Given the description of an element on the screen output the (x, y) to click on. 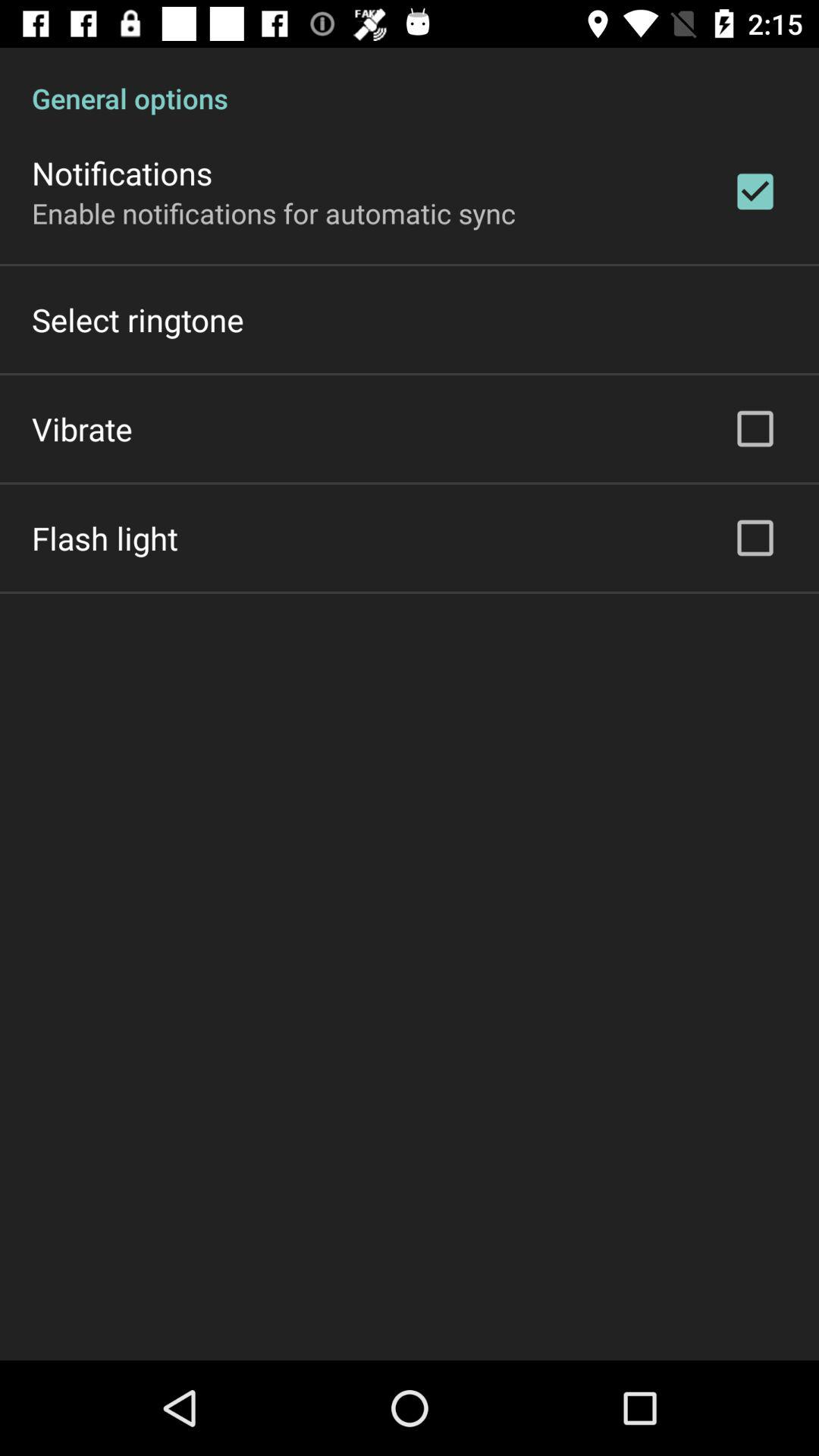
turn off enable notifications for item (273, 213)
